Given the description of an element on the screen output the (x, y) to click on. 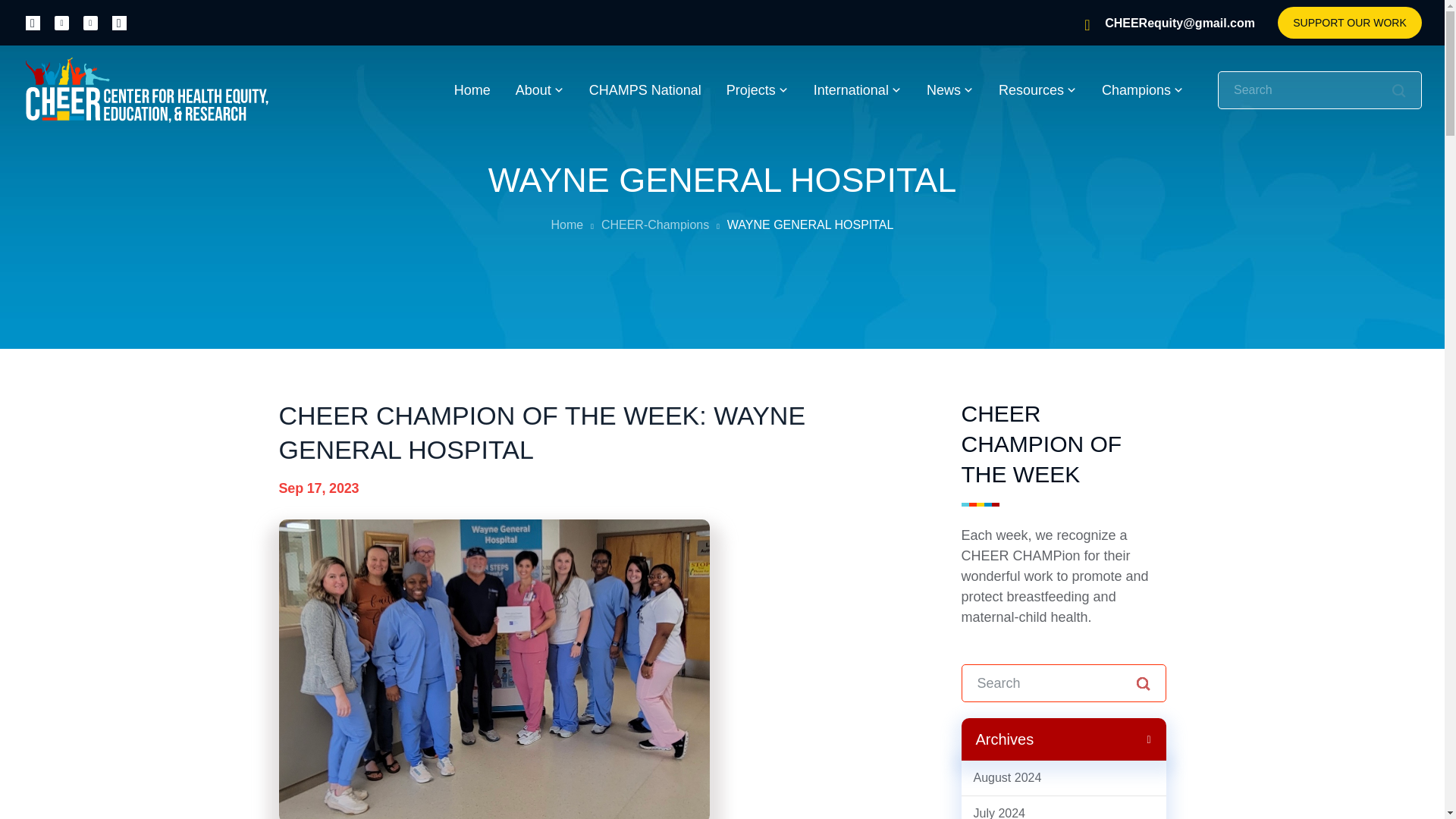
instagram (61, 22)
CHAMPS National (645, 90)
Search (1398, 90)
Search (1398, 90)
Search (1142, 684)
facebook (33, 22)
twitter (89, 22)
News (950, 90)
SUPPORT OUR WORK (1350, 22)
Search (1142, 684)
